Given the description of an element on the screen output the (x, y) to click on. 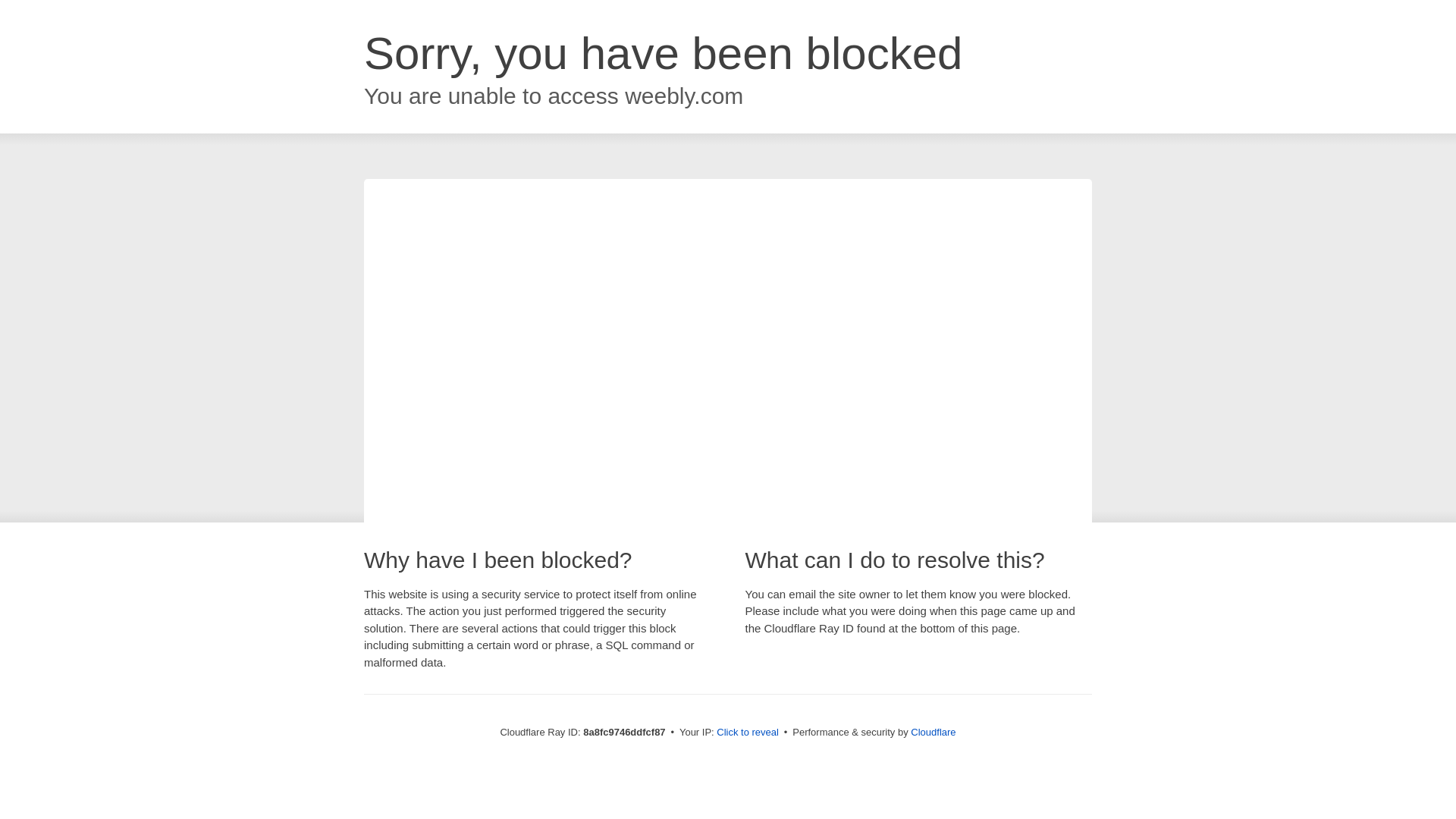
Click to reveal (747, 732)
Cloudflare (933, 731)
